Given the description of an element on the screen output the (x, y) to click on. 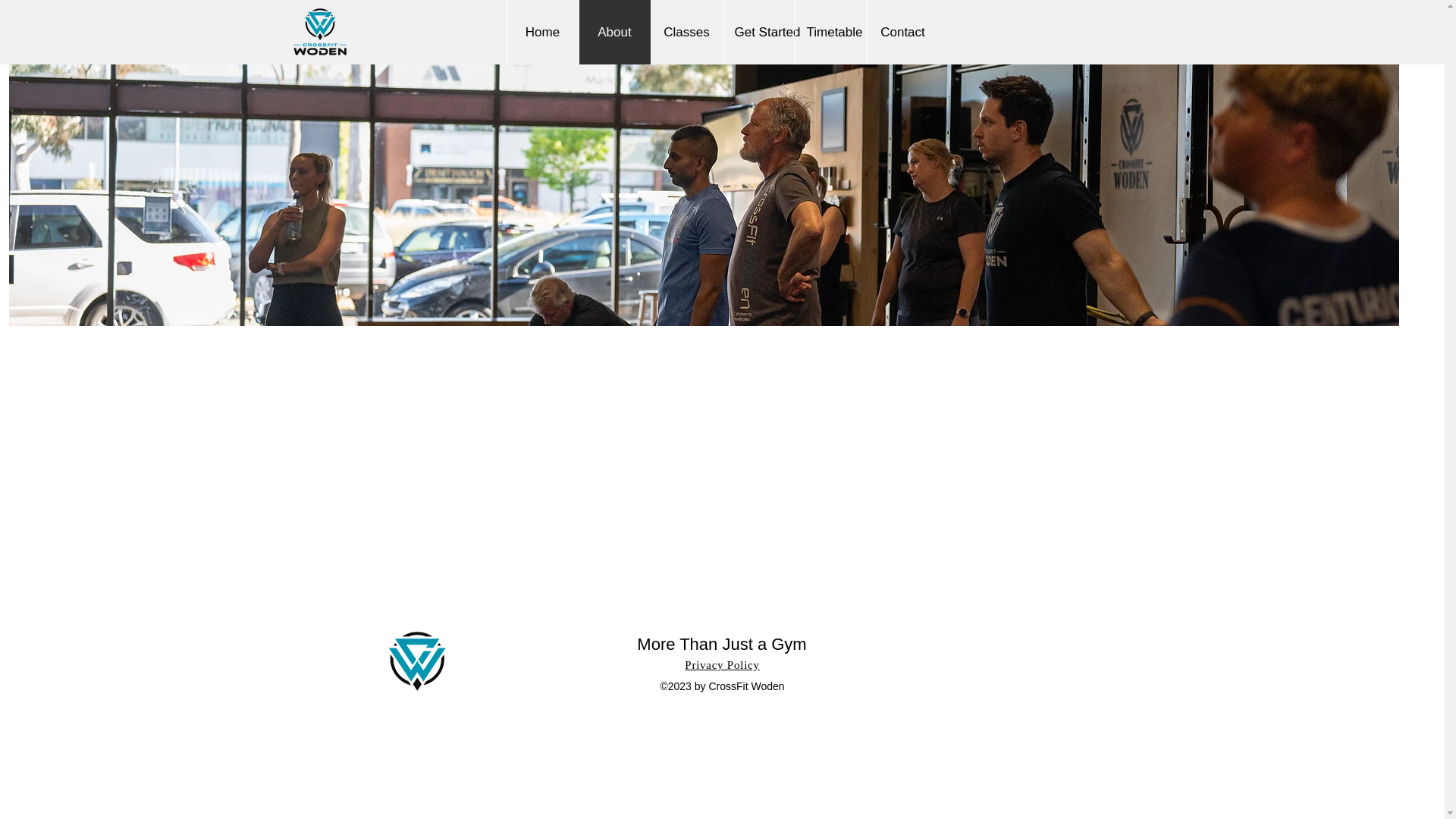
Get Started (757, 32)
Timetable (830, 32)
Home (542, 32)
About (613, 32)
Contact (901, 32)
Classes (686, 32)
Privacy Policy (721, 664)
